Given the description of an element on the screen output the (x, y) to click on. 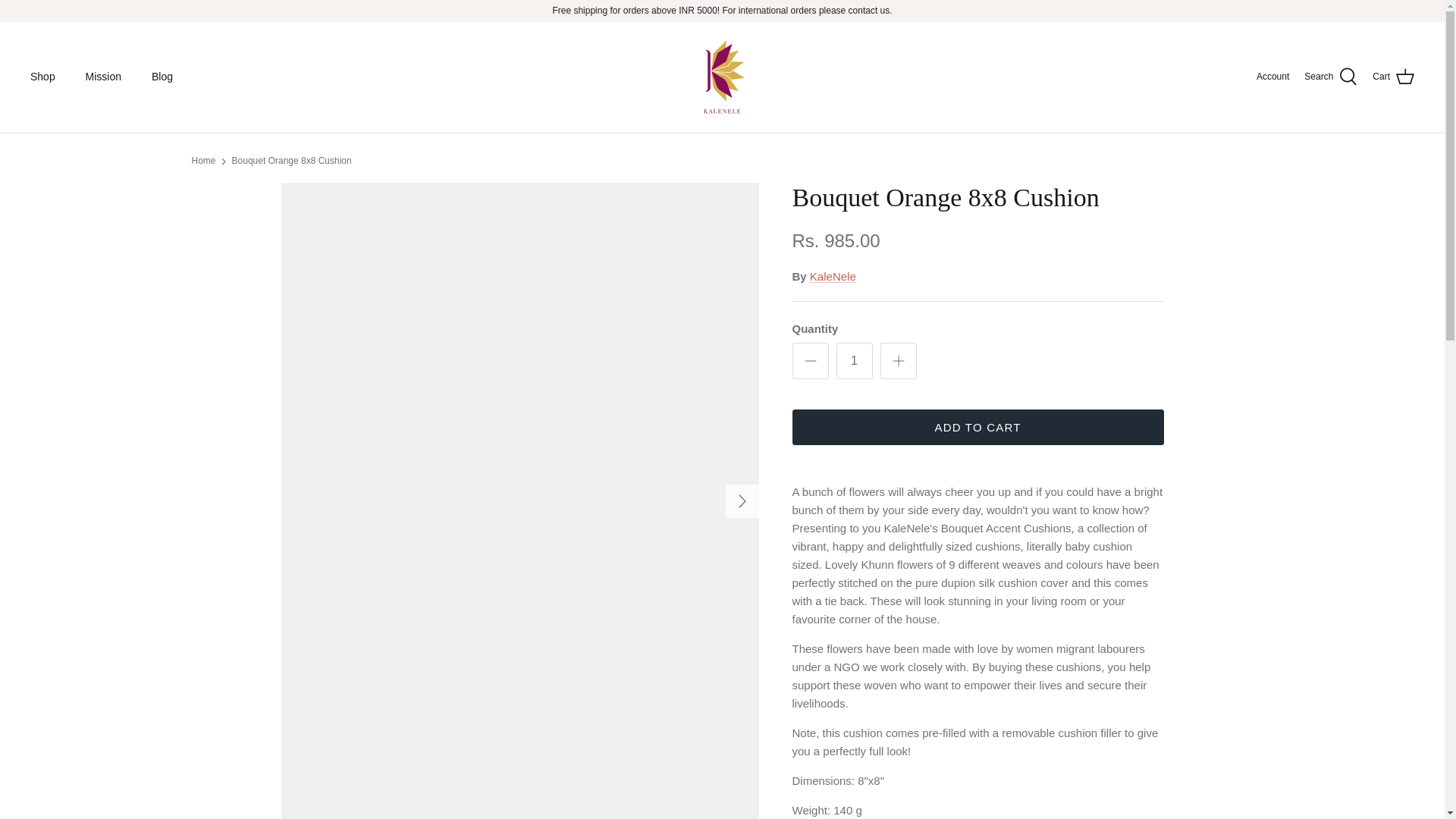
Blog (162, 76)
Search (1330, 76)
Plus (897, 361)
Cart (1393, 76)
Mission (103, 76)
Account (1272, 76)
1 (853, 361)
Minus (809, 361)
Shop (42, 76)
